Given the description of an element on the screen output the (x, y) to click on. 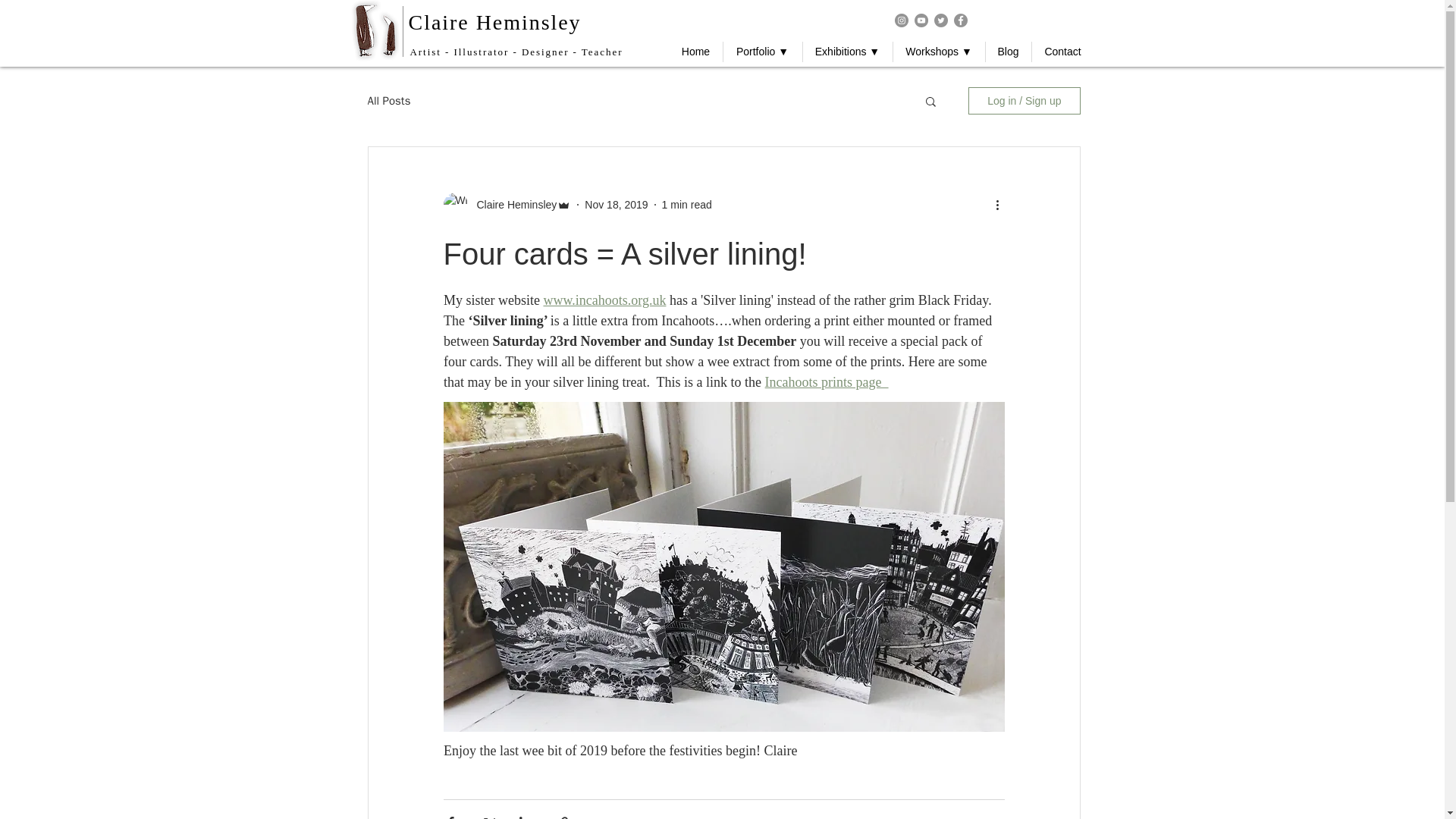
Incahoots prints page   (826, 381)
All Posts (388, 101)
Home (695, 51)
Claire Heminsley (511, 204)
www.incahoots.org.uk (604, 299)
Claire Heminsley (493, 22)
Contact (1061, 51)
Nov 18, 2019 (616, 204)
Blog (1007, 51)
1 min read (686, 204)
